Given the description of an element on the screen output the (x, y) to click on. 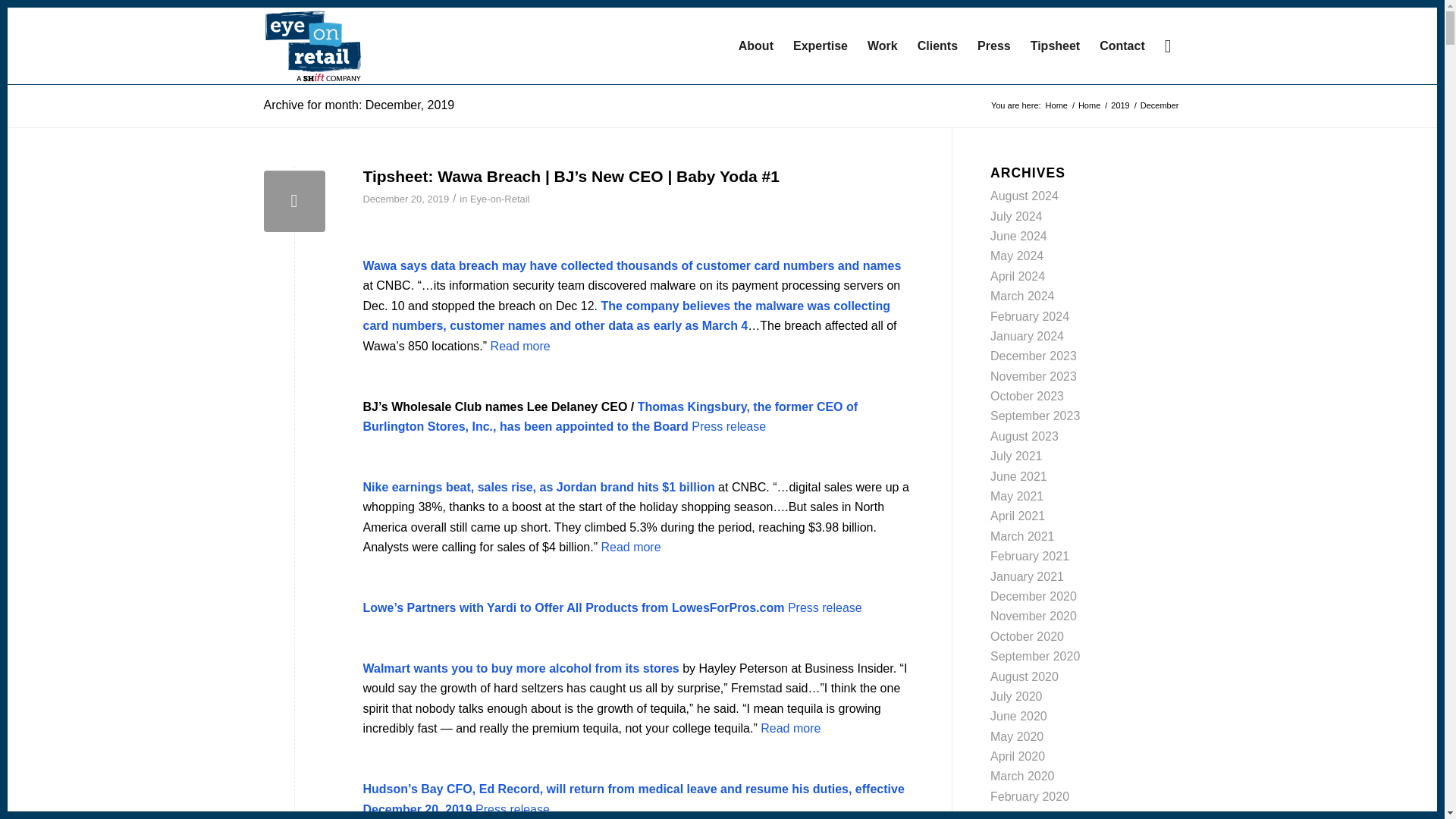
Shift Marketing Group (1056, 105)
Eye-on-Retail (499, 198)
Press release (824, 607)
Home (1088, 105)
Read more (630, 546)
Press release (513, 809)
Home (1088, 105)
Home (1056, 105)
Expertise (820, 46)
Press release (728, 426)
